Given the description of an element on the screen output the (x, y) to click on. 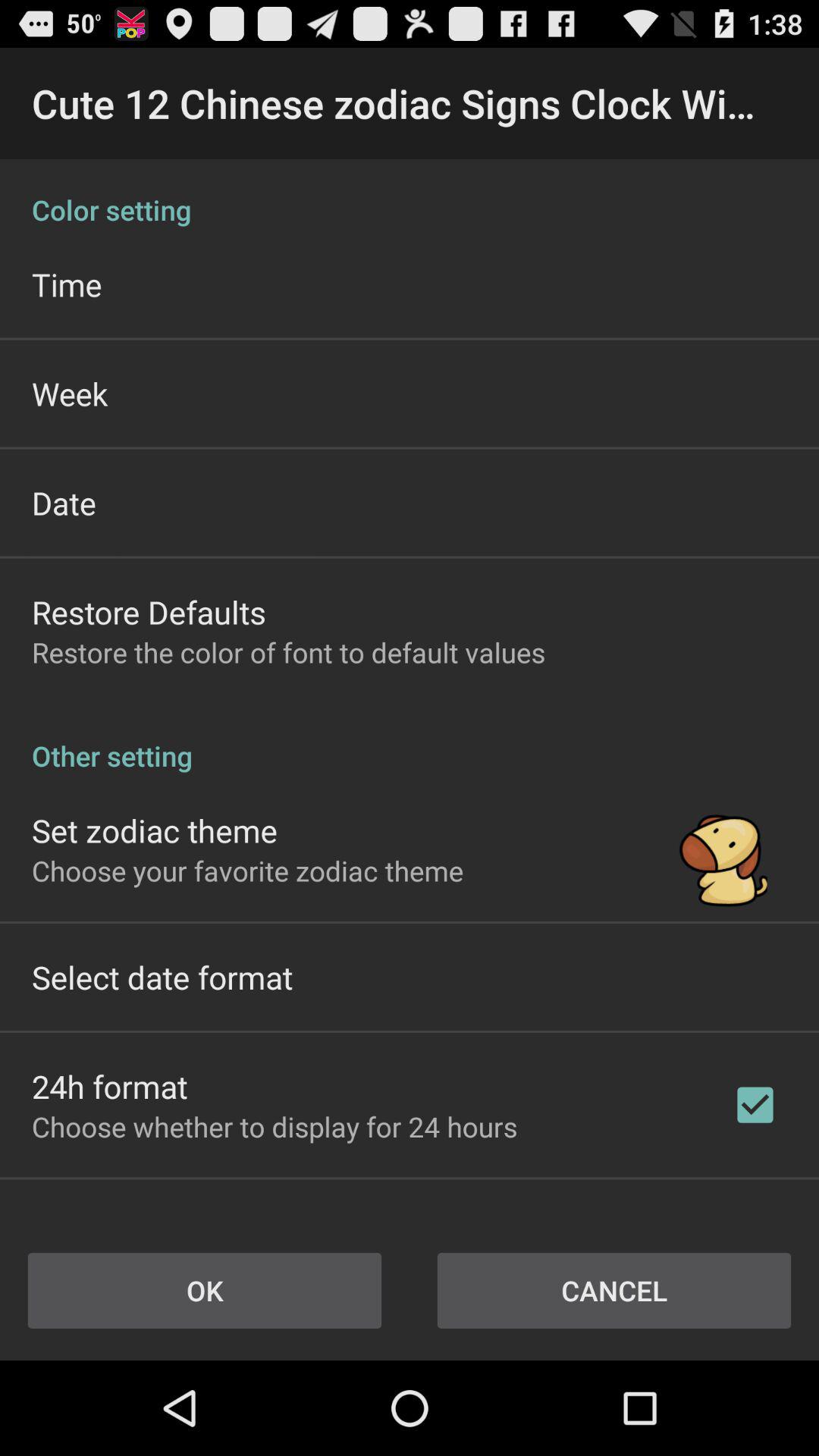
turn off app below the color setting app (66, 283)
